Given the description of an element on the screen output the (x, y) to click on. 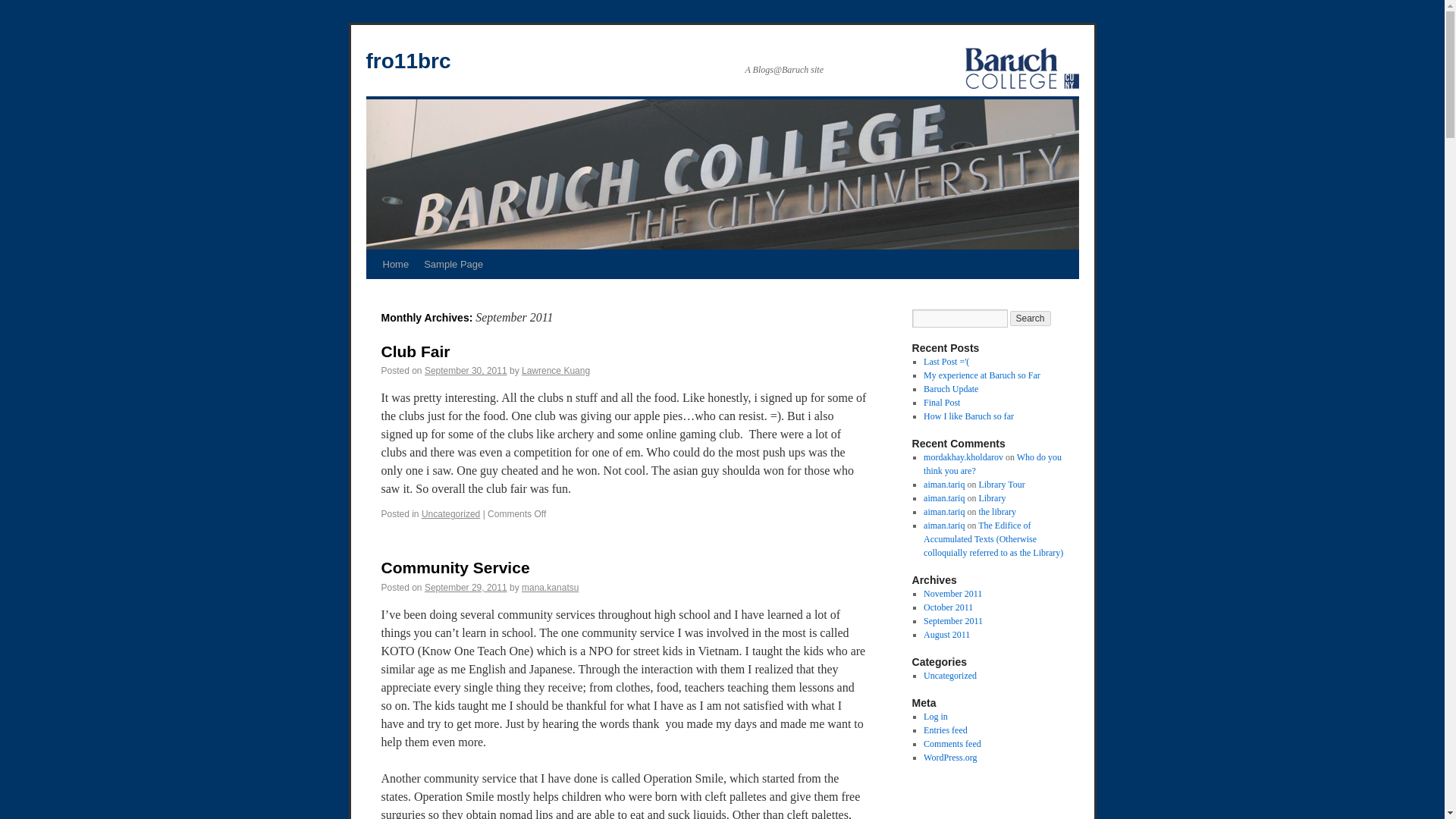
Community Service (454, 567)
fro11brc (407, 60)
Lawrence Kuang (555, 370)
Search (1030, 318)
mana.kanatsu (549, 587)
Sample Page (453, 264)
September 29, 2011 (465, 587)
Uncategorized (451, 513)
Home (395, 264)
Club Fair (414, 351)
September 30, 2011 (465, 370)
